Given the description of an element on the screen output the (x, y) to click on. 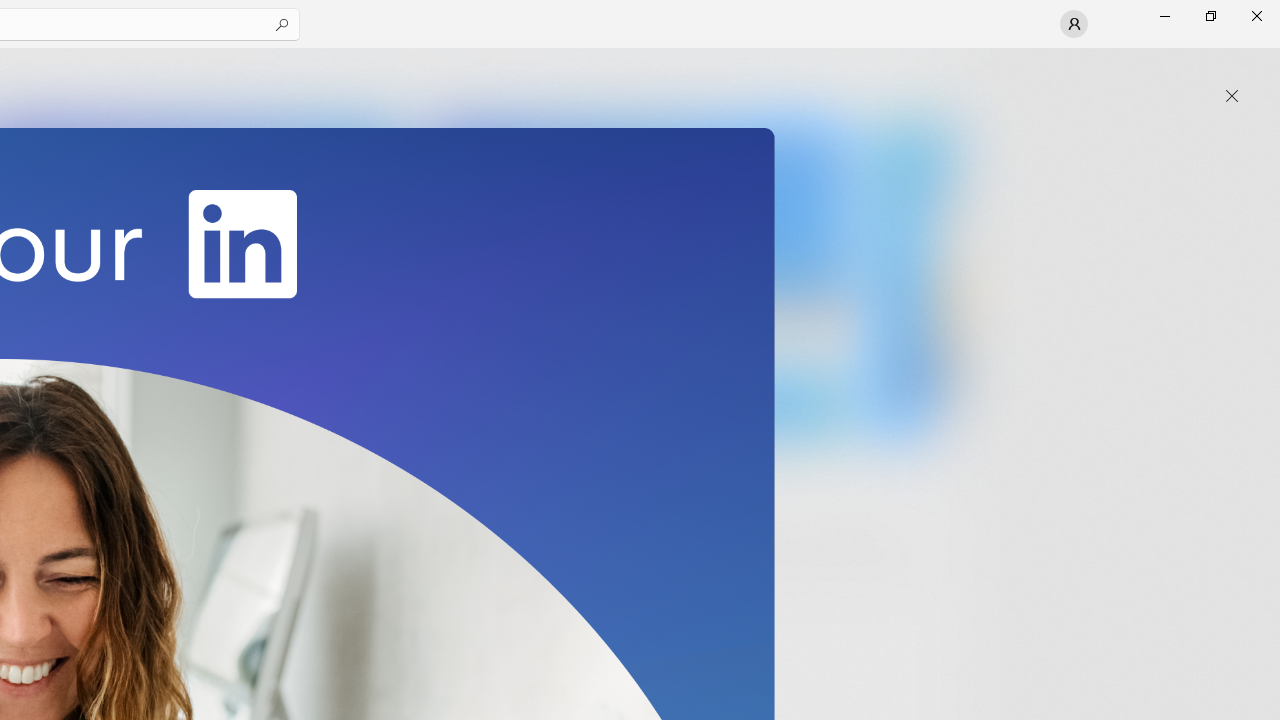
Screenshot 4 (912, 279)
See all (924, 72)
close popup window (1232, 95)
Screenshot 3 (636, 279)
